Given the description of an element on the screen output the (x, y) to click on. 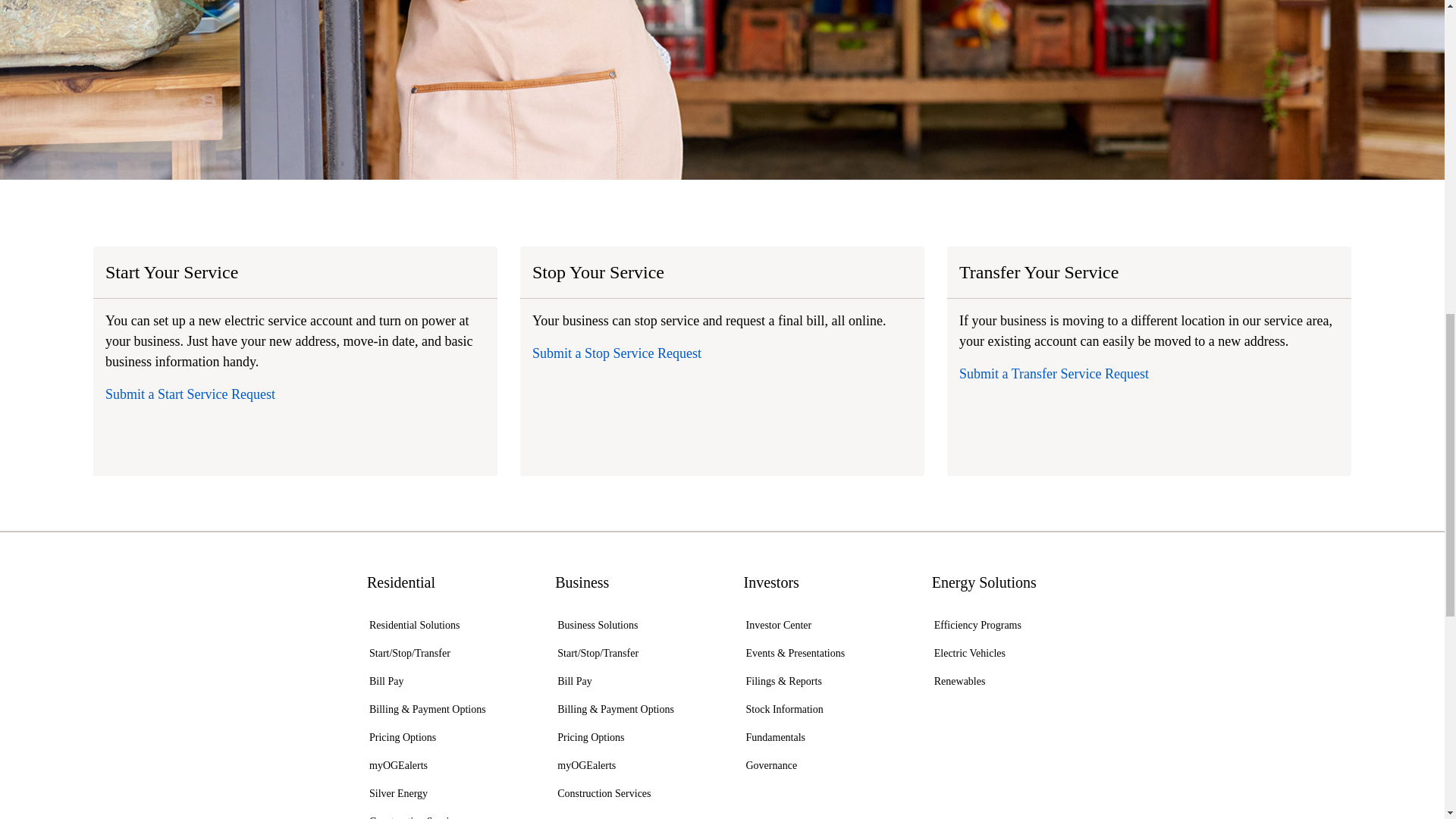
Transfer Service (1053, 373)
Start Service (189, 394)
Stop Service (616, 353)
